Given the description of an element on the screen output the (x, y) to click on. 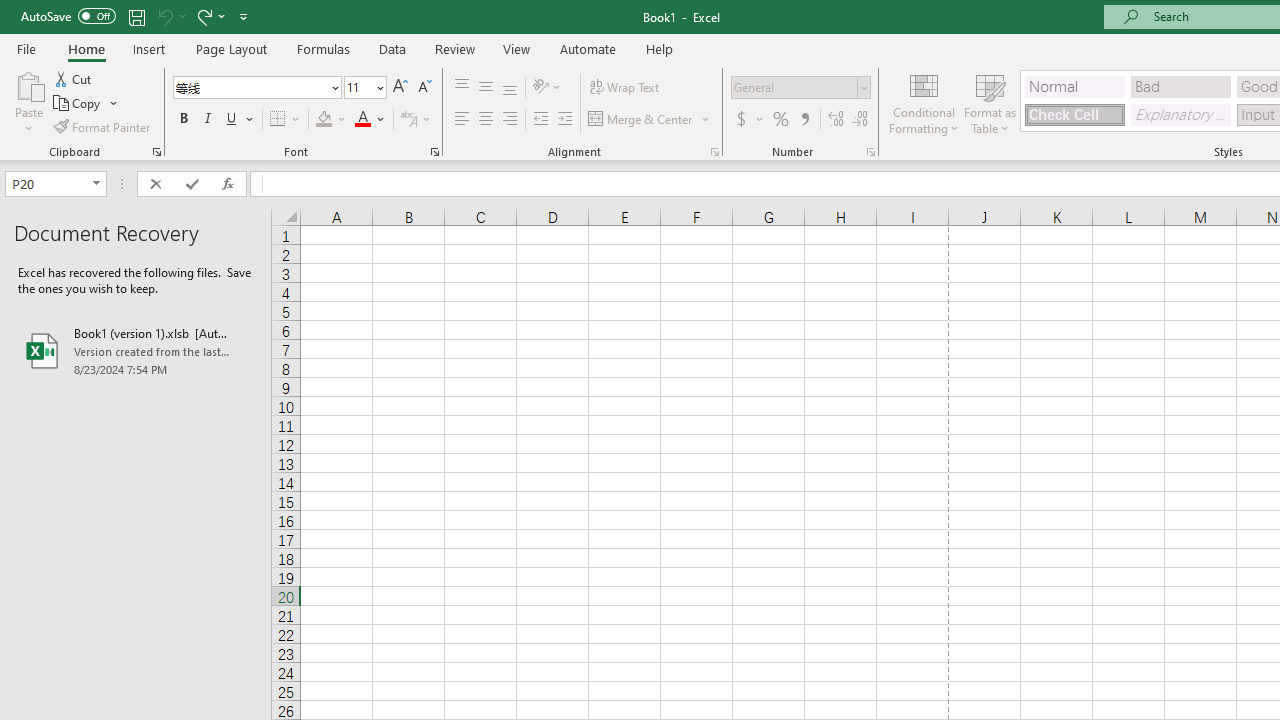
Increase Decimal (836, 119)
Number Format (794, 87)
More Options (760, 119)
Bad (1180, 86)
Save (136, 15)
View (517, 48)
Format Cell Alignment (714, 151)
Wrap Text (624, 87)
Merge & Center (641, 119)
Open (96, 183)
File Tab (26, 48)
Book1 (version 1).xlsb  [AutoRecovered] (136, 350)
Center (485, 119)
Name Box (56, 183)
AutoSave (68, 16)
